Given the description of an element on the screen output the (x, y) to click on. 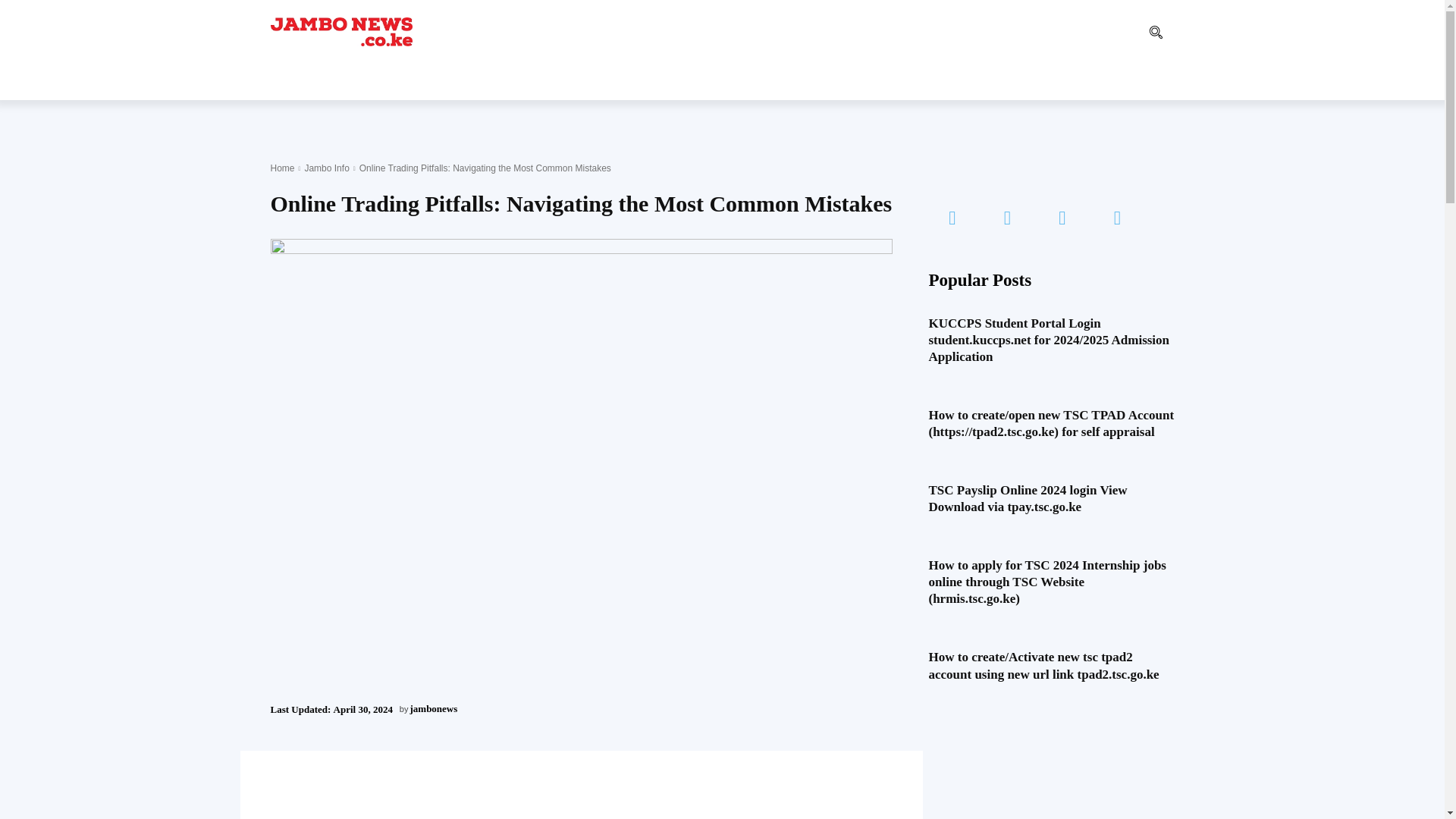
Your Ultimate information Hub (340, 31)
View all posts in Jambo Info (326, 167)
